Given the description of an element on the screen output the (x, y) to click on. 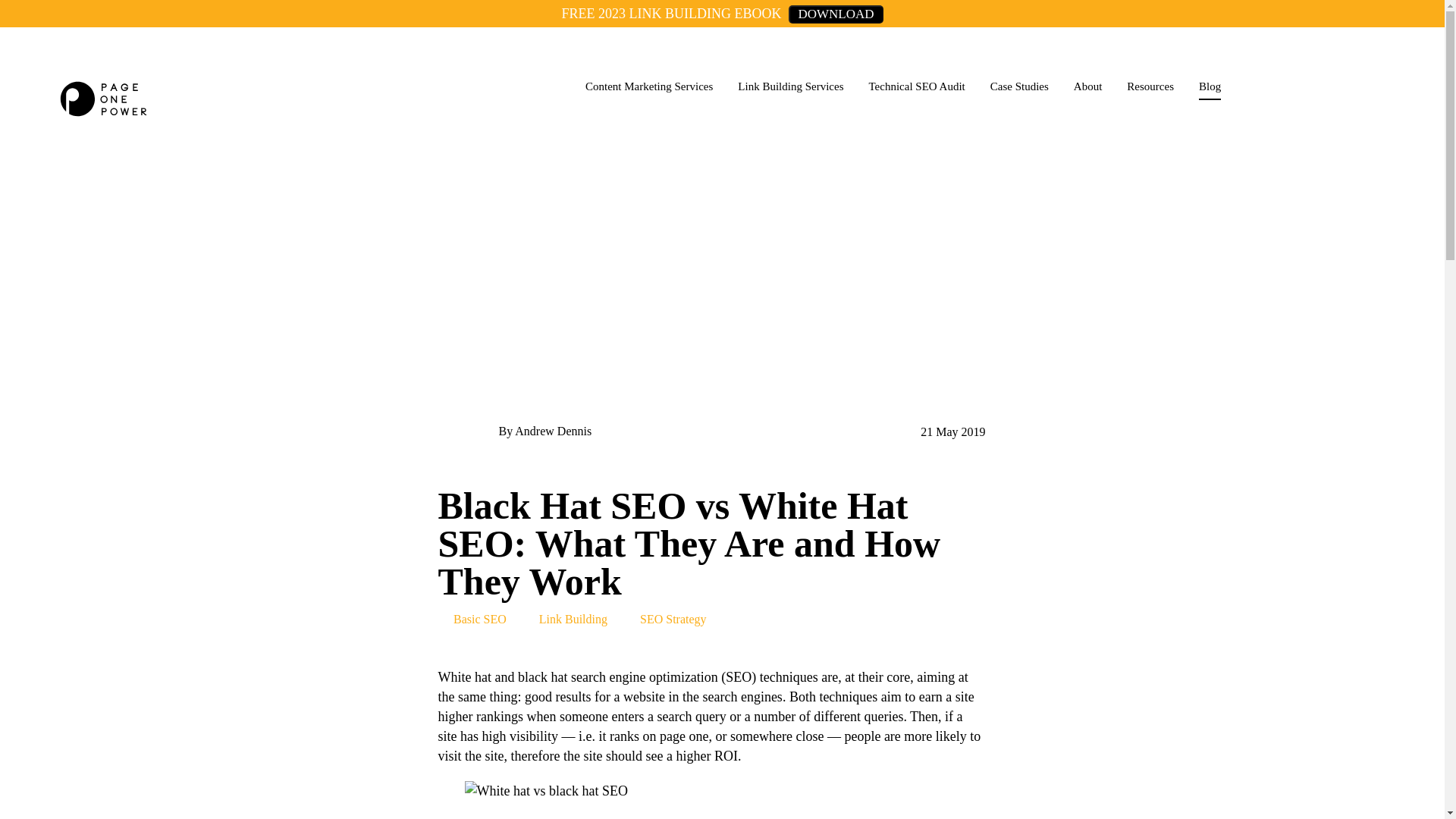
Technical SEO Audit (915, 63)
Content Marketing Services (649, 63)
Page One Power Logo (103, 98)
Link Building Services (790, 63)
DOWNLOAD (835, 13)
